Given the description of an element on the screen output the (x, y) to click on. 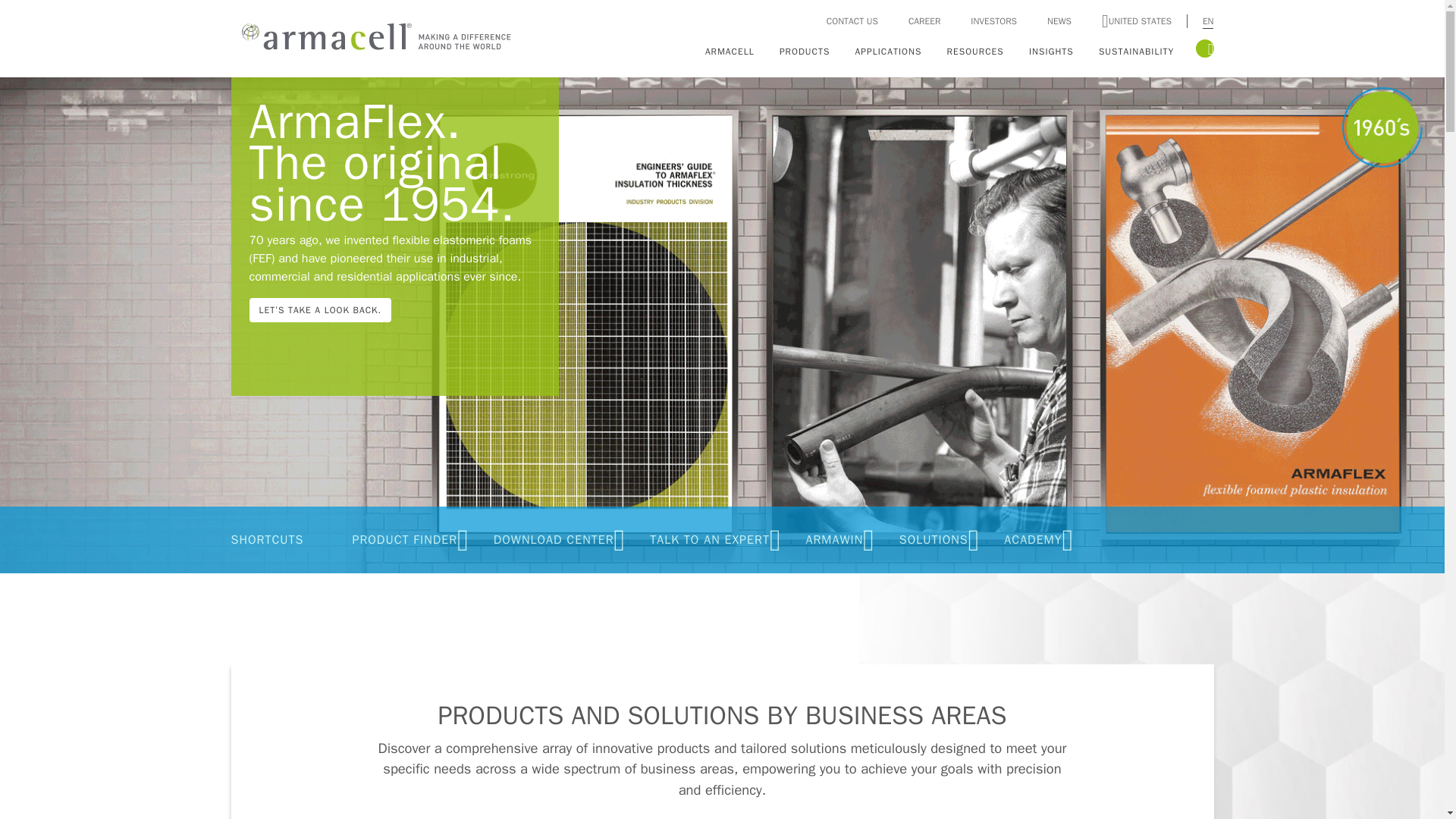
NEWS (1058, 20)
CAREER (924, 20)
INVESTORS (993, 20)
CONTACT US (852, 20)
ARMACELL (732, 50)
Armacell - making a difference around the world (372, 35)
